Given the description of an element on the screen output the (x, y) to click on. 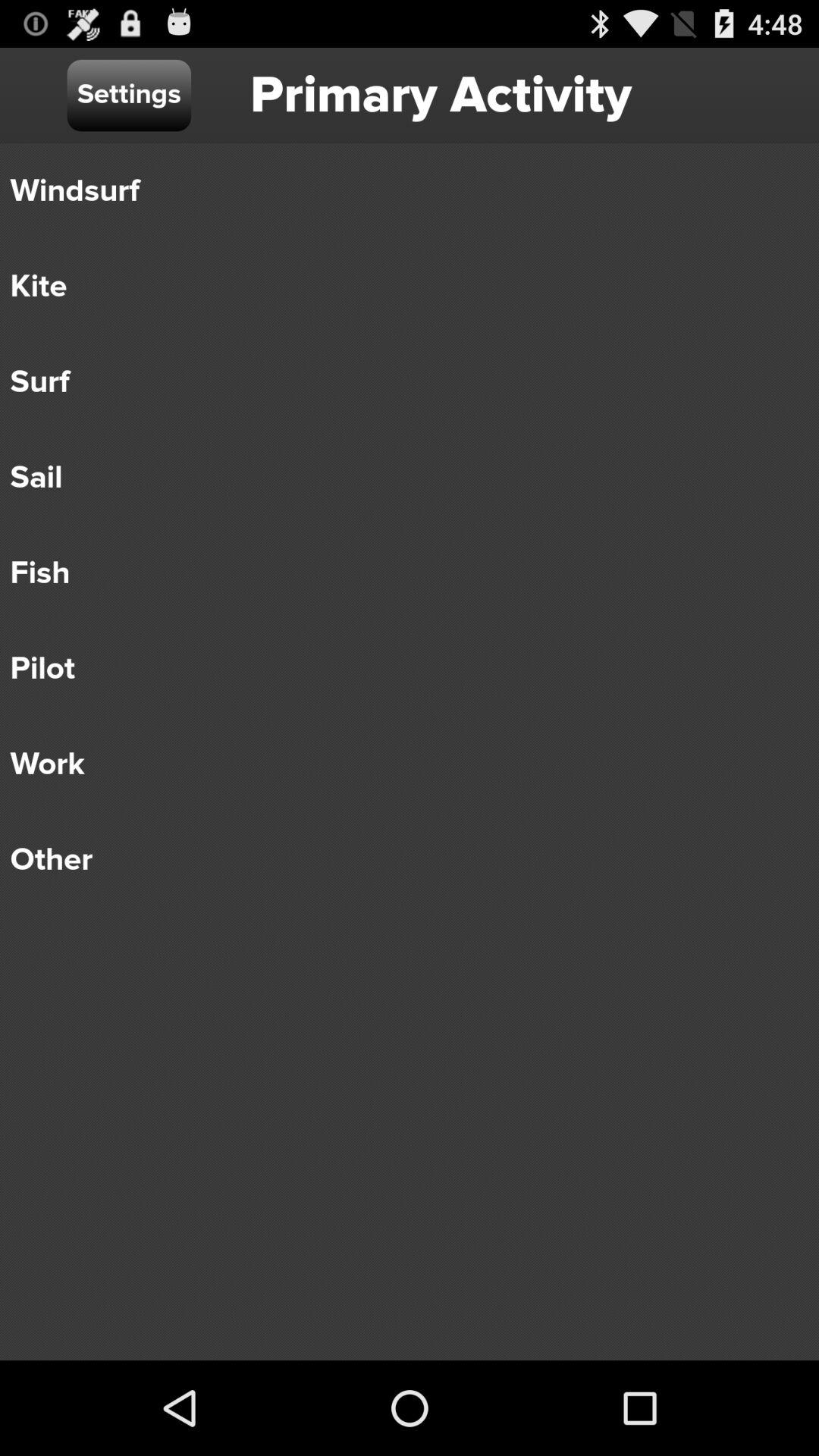
open the other item (399, 859)
